Given the description of an element on the screen output the (x, y) to click on. 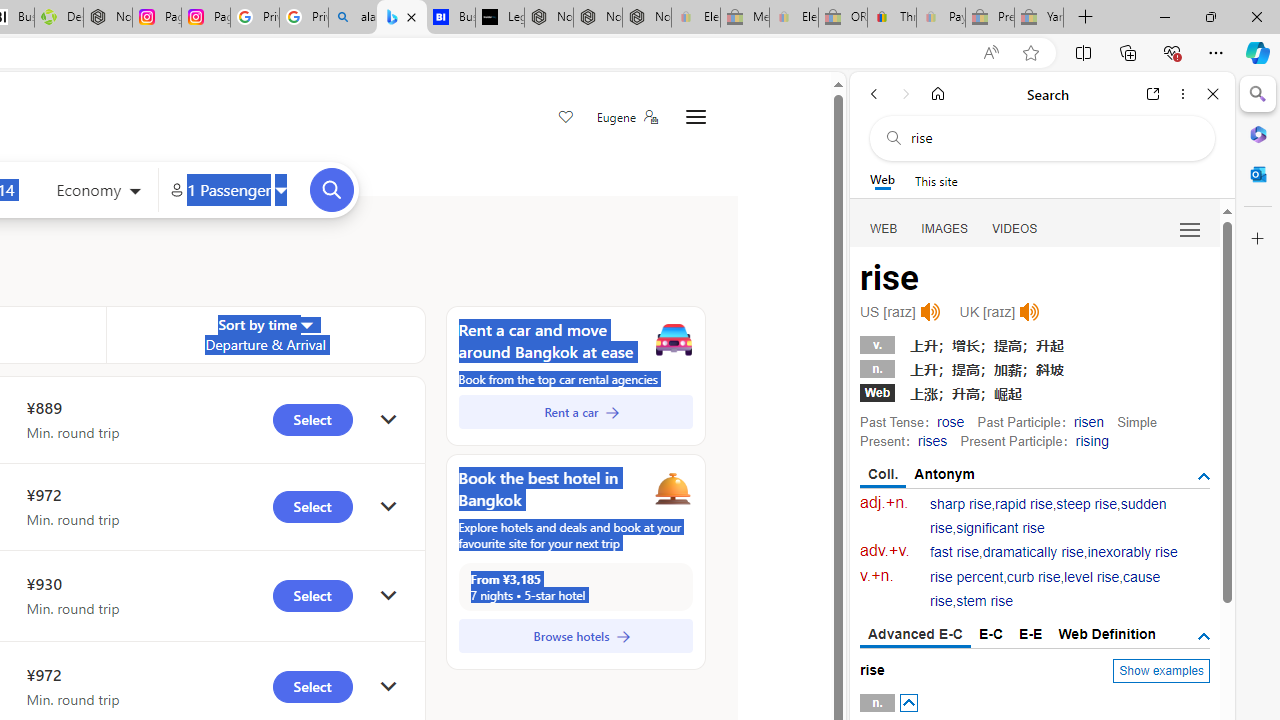
dramatically rise (1032, 552)
Coll. (883, 475)
rising (1091, 440)
significant rise (1000, 528)
E-E (1030, 633)
rises (932, 440)
